Given the description of an element on the screen output the (x, y) to click on. 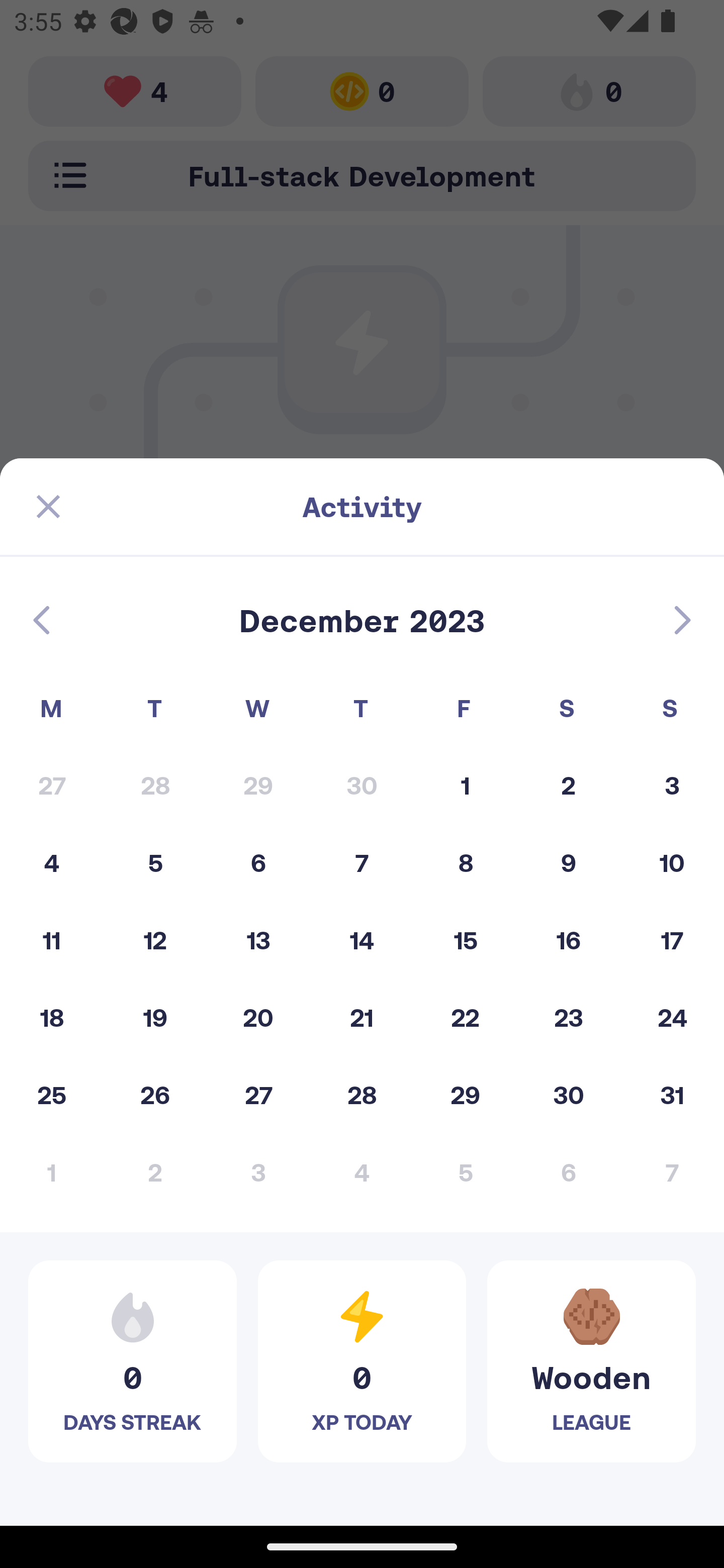
Close (47, 506)
